Given the description of an element on the screen output the (x, y) to click on. 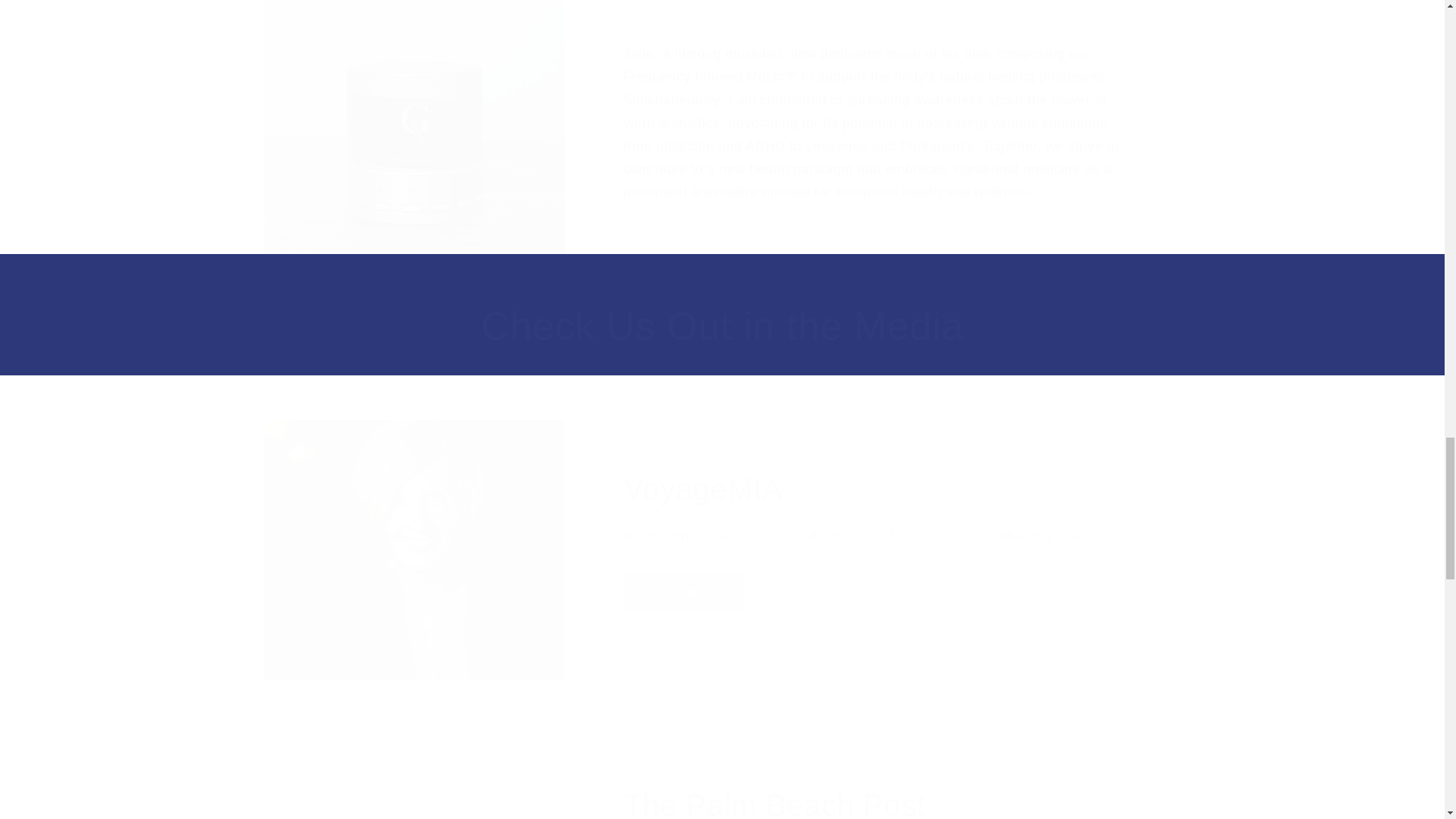
Read More (682, 592)
Check Us Out in the Media (722, 326)
